Given the description of an element on the screen output the (x, y) to click on. 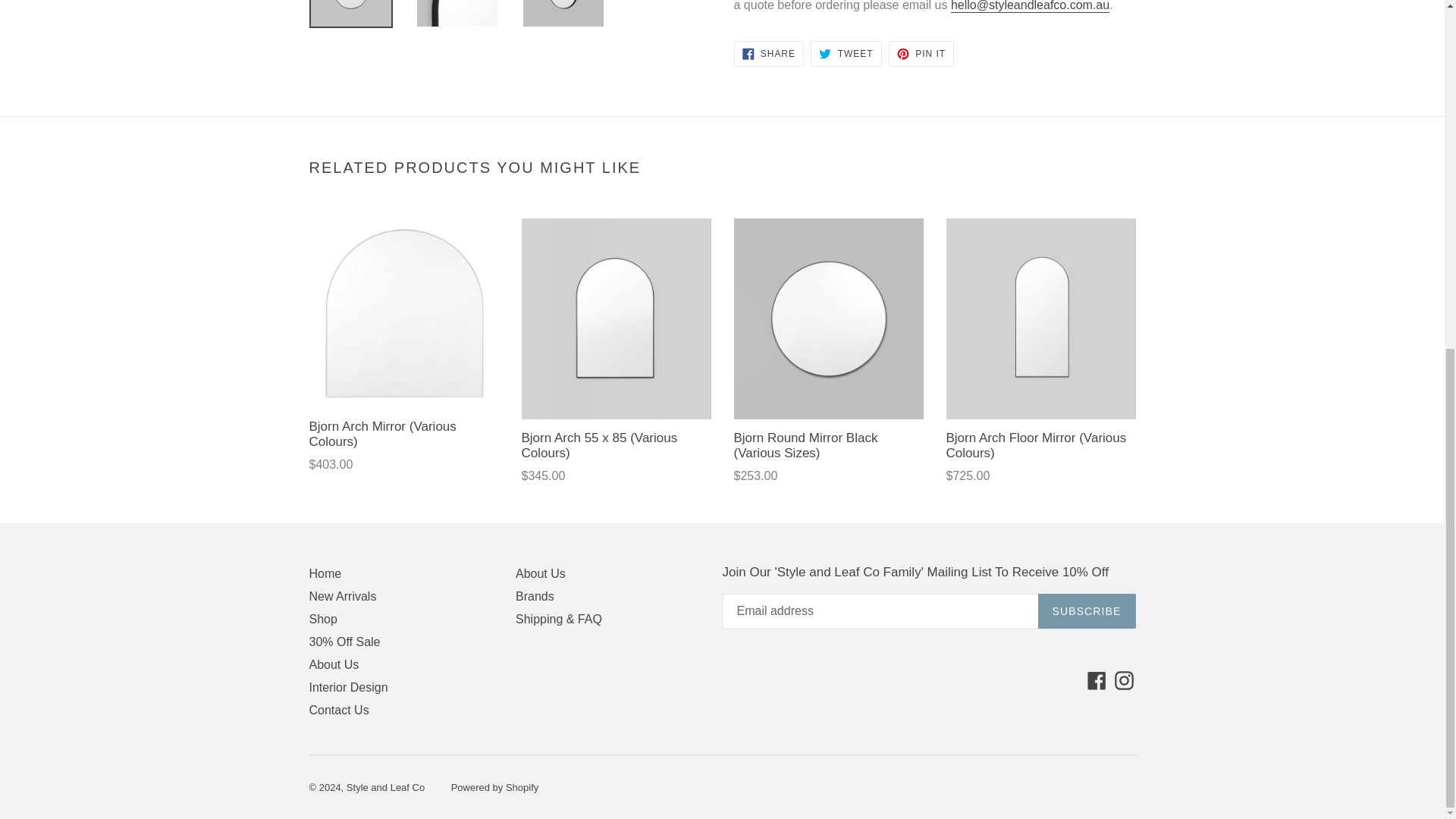
Share on Facebook (768, 53)
Style and Leaf Co on Facebook (1096, 679)
Pin on Pinterest (920, 53)
Tweet on Twitter (845, 53)
Style and Leaf Co on Instagram (1123, 679)
